Given the description of an element on the screen output the (x, y) to click on. 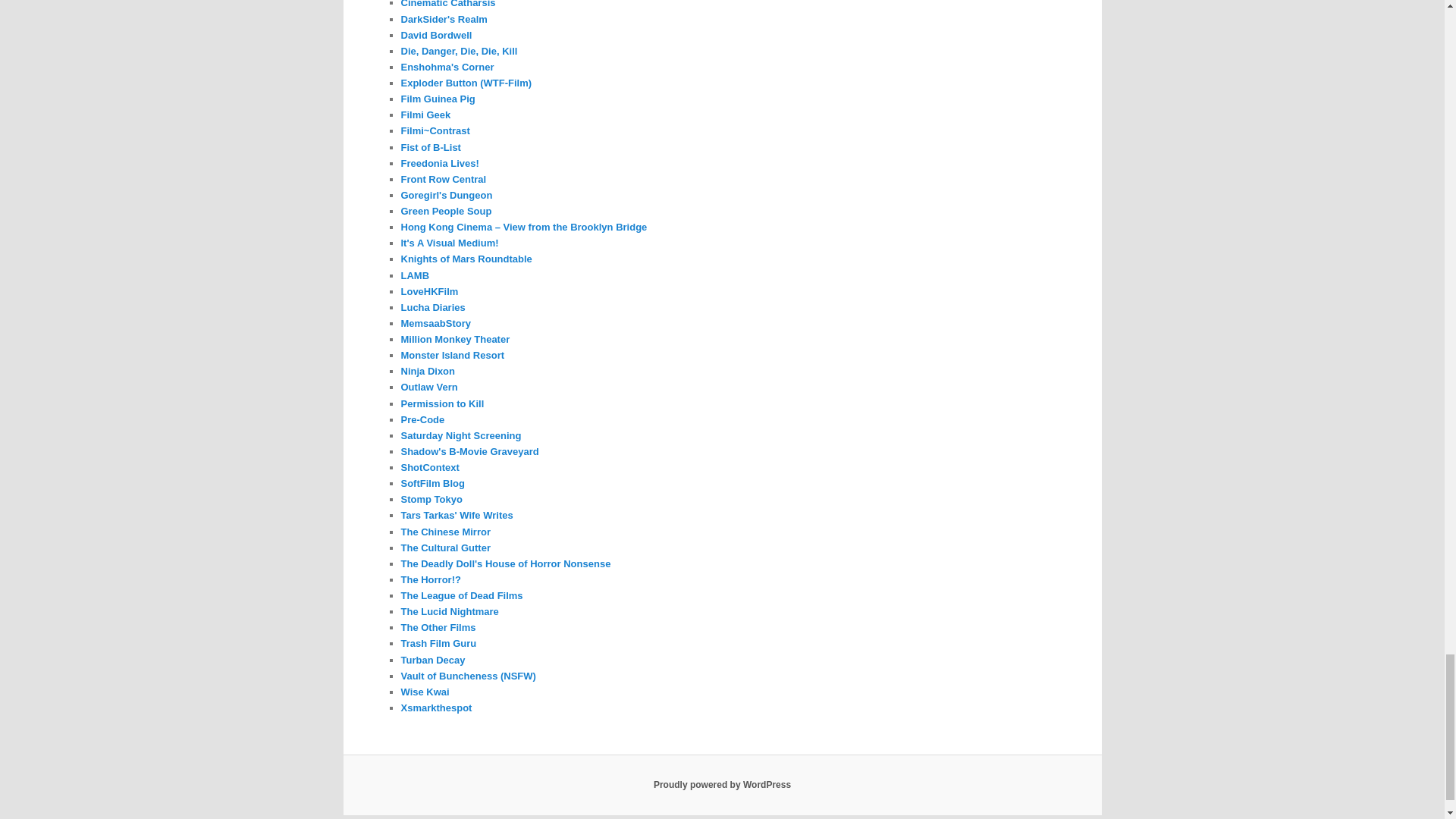
Semantic Personal Publishing Platform (721, 784)
